Given the description of an element on the screen output the (x, y) to click on. 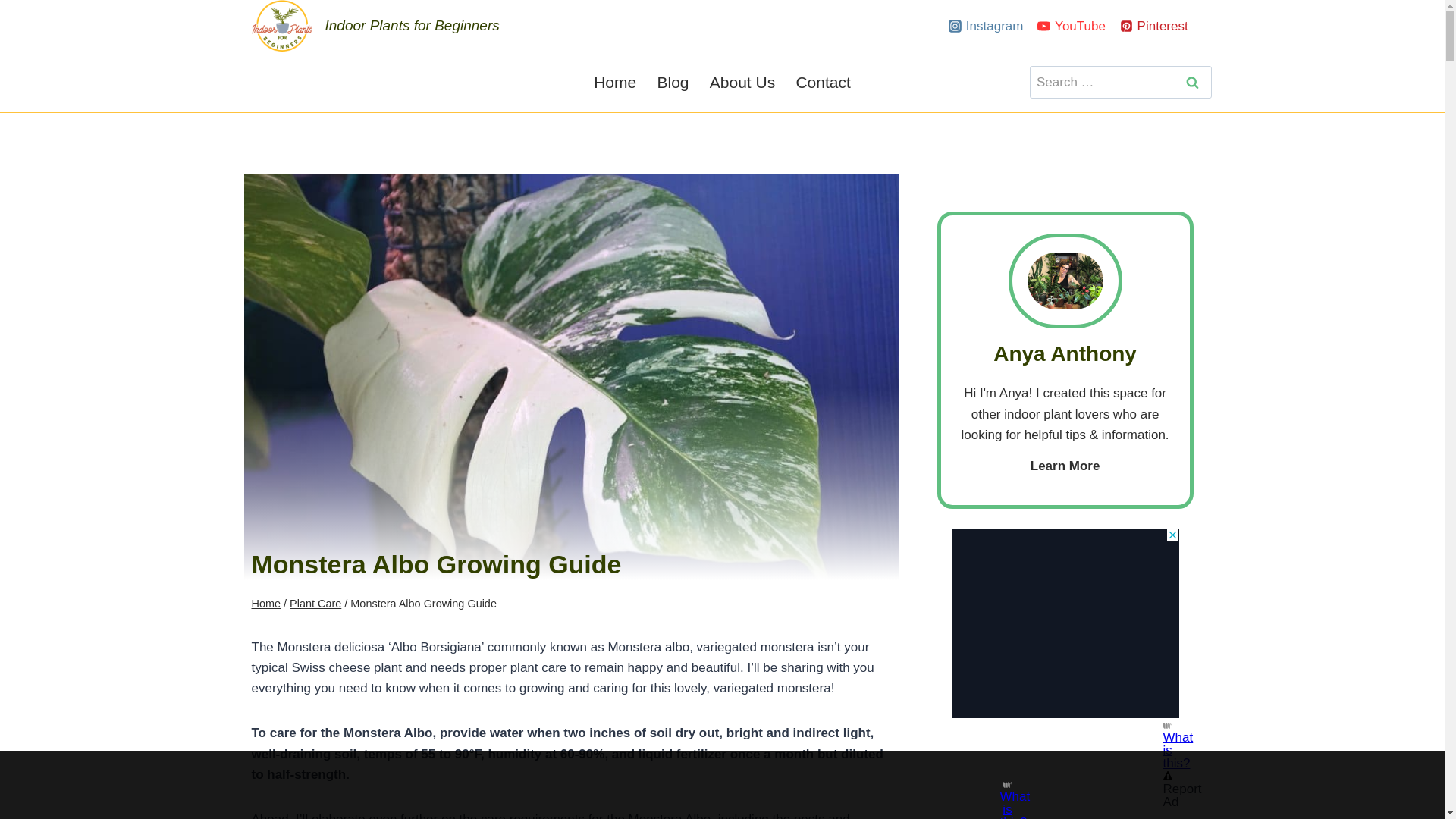
3rd party ad content (1065, 623)
Indoor Plants for Beginners (375, 25)
Home (266, 603)
About Us (742, 82)
Home (614, 82)
Contact (823, 82)
Pinterest (1154, 25)
Search (1192, 82)
YouTube (1070, 25)
3rd party ad content (708, 785)
Search (1192, 82)
Search (1192, 82)
Plant Care (314, 603)
Instagram (985, 25)
Blog (672, 82)
